Given the description of an element on the screen output the (x, y) to click on. 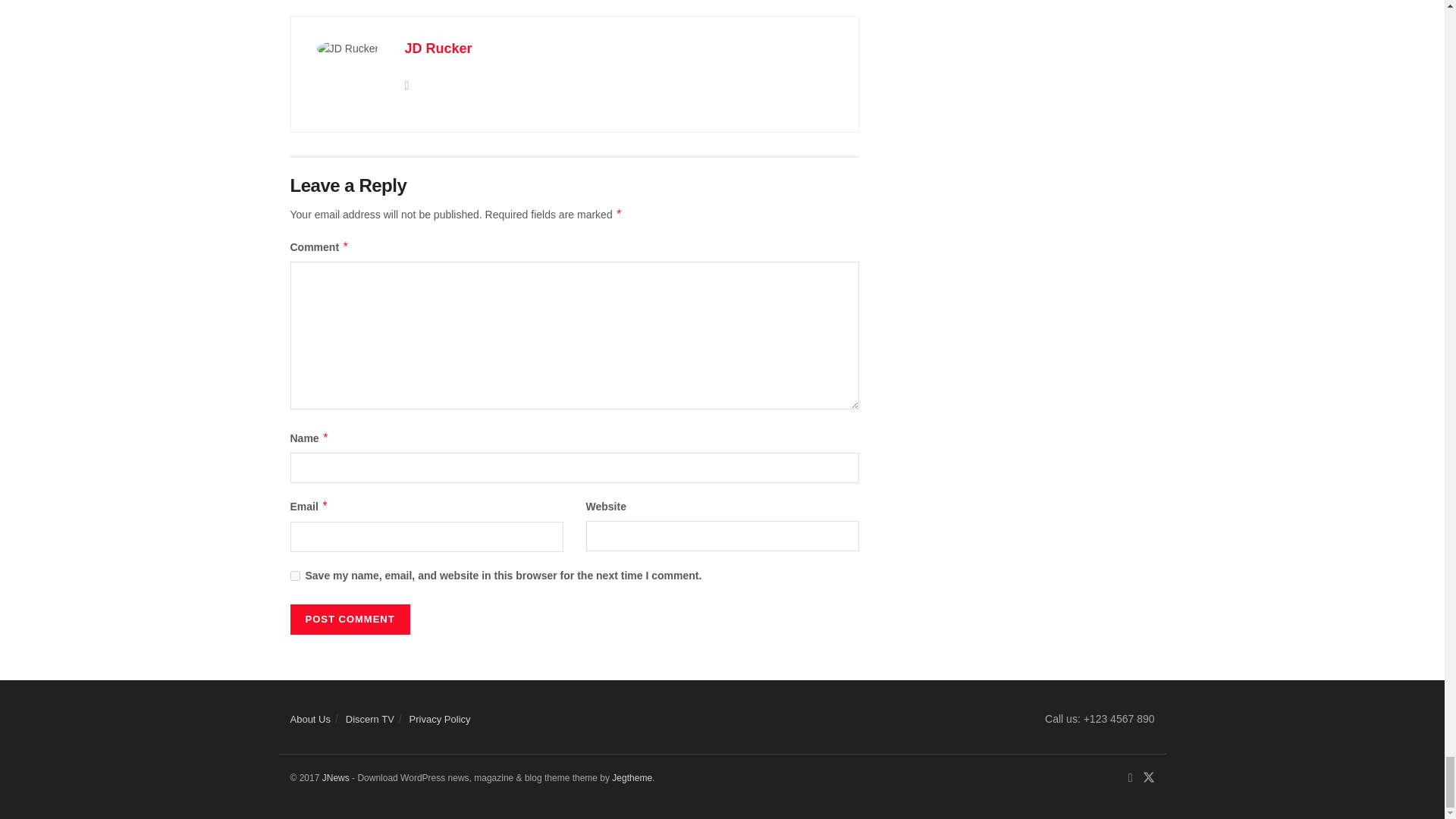
Post Comment (349, 619)
yes (294, 574)
Jegtheme (631, 777)
